Given the description of an element on the screen output the (x, y) to click on. 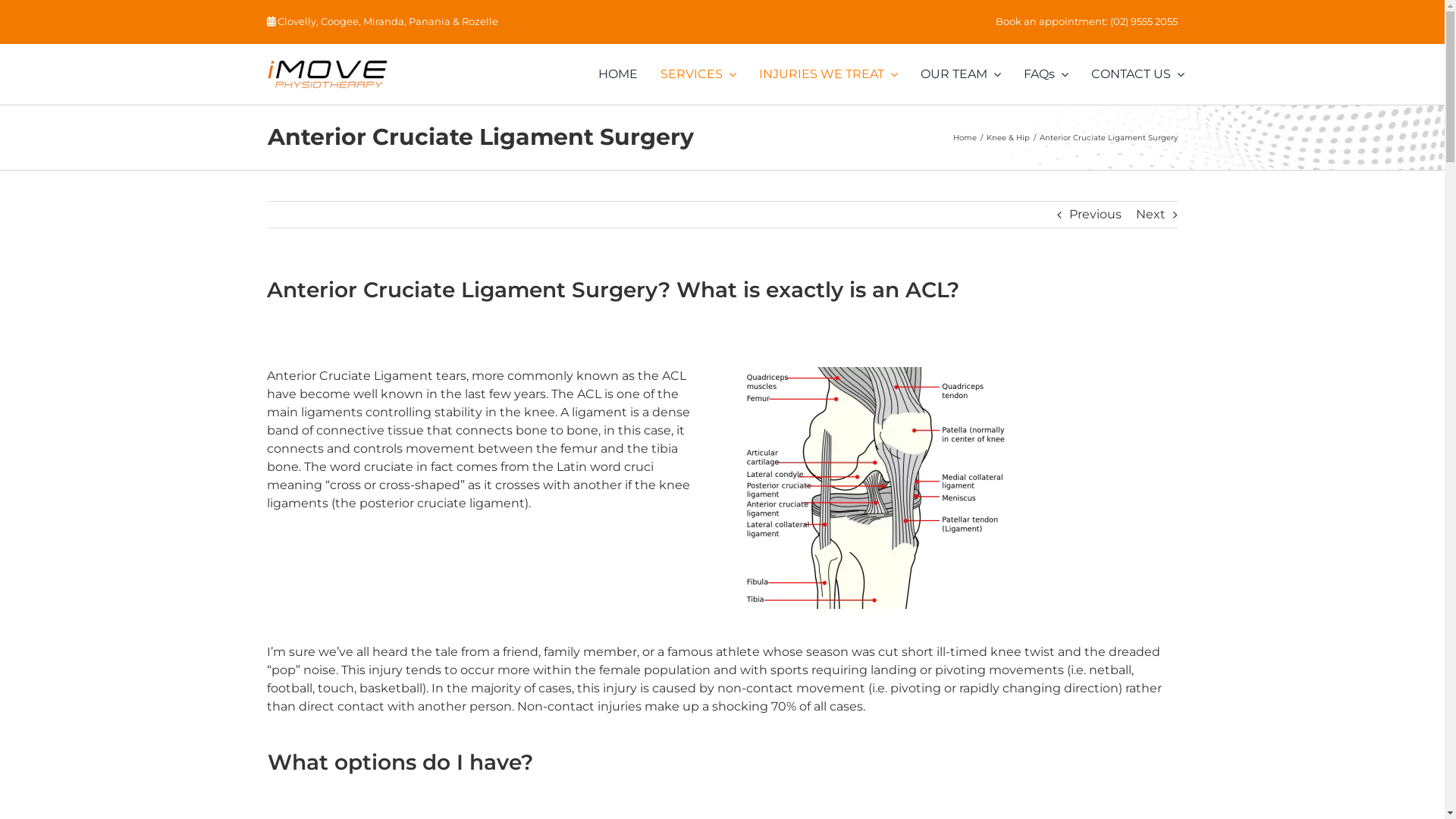
Home Element type: text (963, 136)
HOME Element type: text (617, 73)
SERVICES Element type: text (698, 73)
Next Element type: text (1150, 214)
(02) 9555 2055 Element type: text (1143, 21)
FAQs Element type: text (1045, 73)
OUR TEAM Element type: text (959, 73)
Anterior Cruciate Ligament 1 Element type: hover (872, 487)
Knee & Hip Element type: text (1007, 136)
Clovelly, Coogee, Miranda, Panania & Rozelle Element type: text (387, 21)
Previous Element type: text (1095, 214)
INJURIES WE TREAT Element type: text (828, 73)
CONTACT US Element type: text (1137, 73)
